Given the description of an element on the screen output the (x, y) to click on. 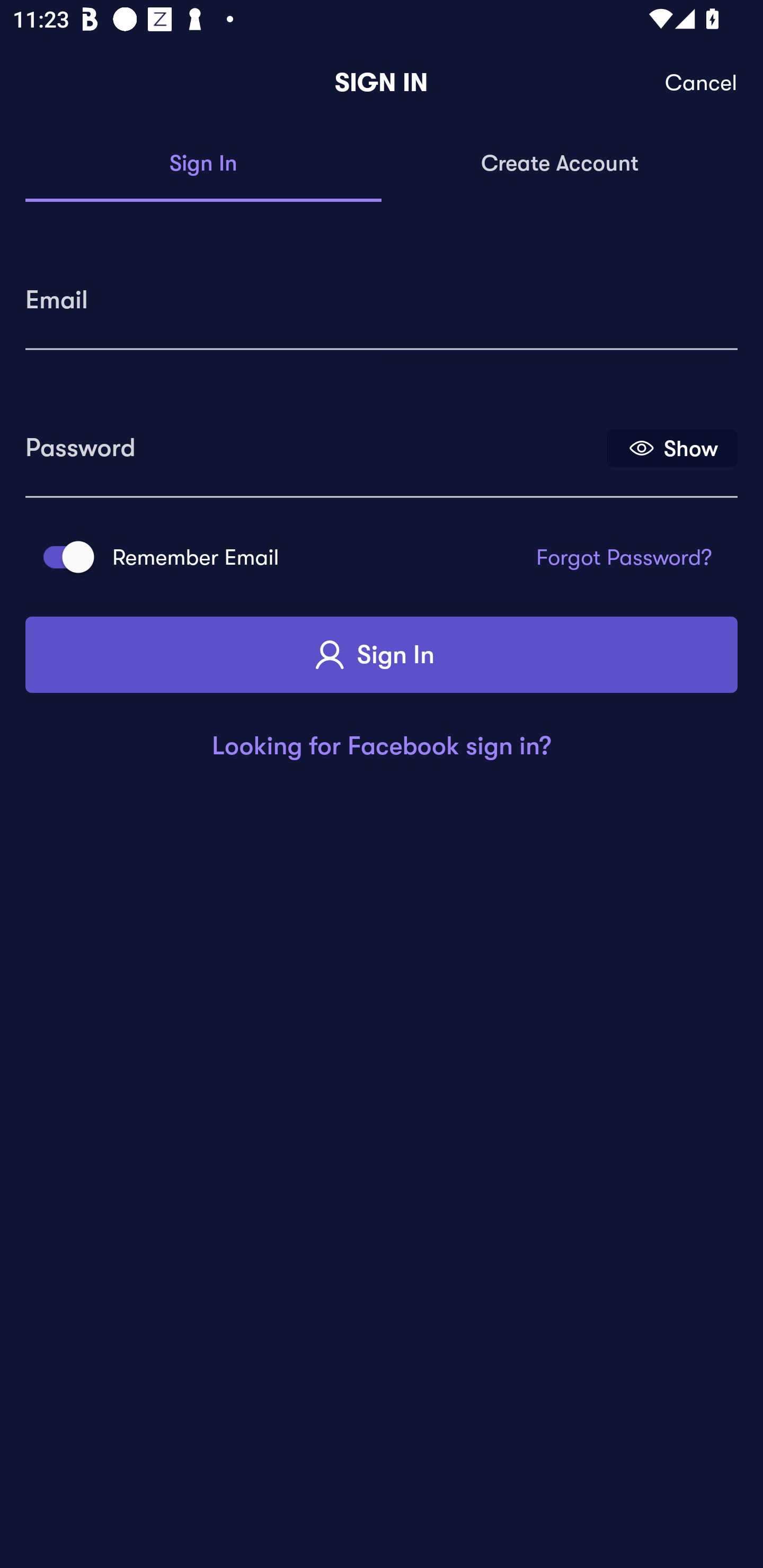
Cancel (701, 82)
Sign In (203, 164)
Create Account (559, 164)
Email (381, 293)
Password (314, 441)
Show Password Show (671, 447)
Remember Email (62, 557)
Sign In (381, 654)
